Given the description of an element on the screen output the (x, y) to click on. 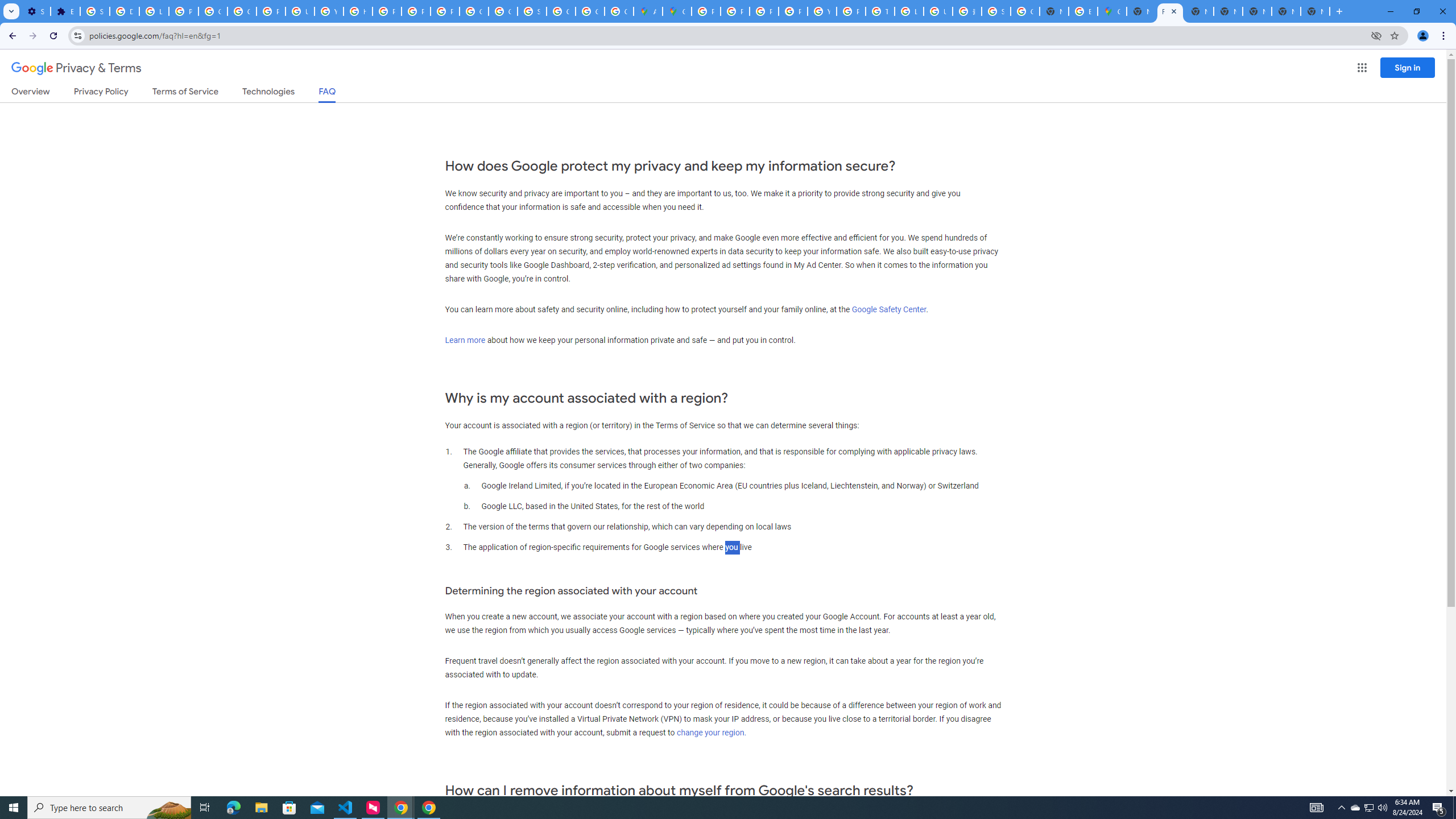
Policy Accountability and Transparency - Transparency Center (705, 11)
Google Account Help (212, 11)
Privacy Help Center - Policies Help (734, 11)
